Given the description of an element on the screen output the (x, y) to click on. 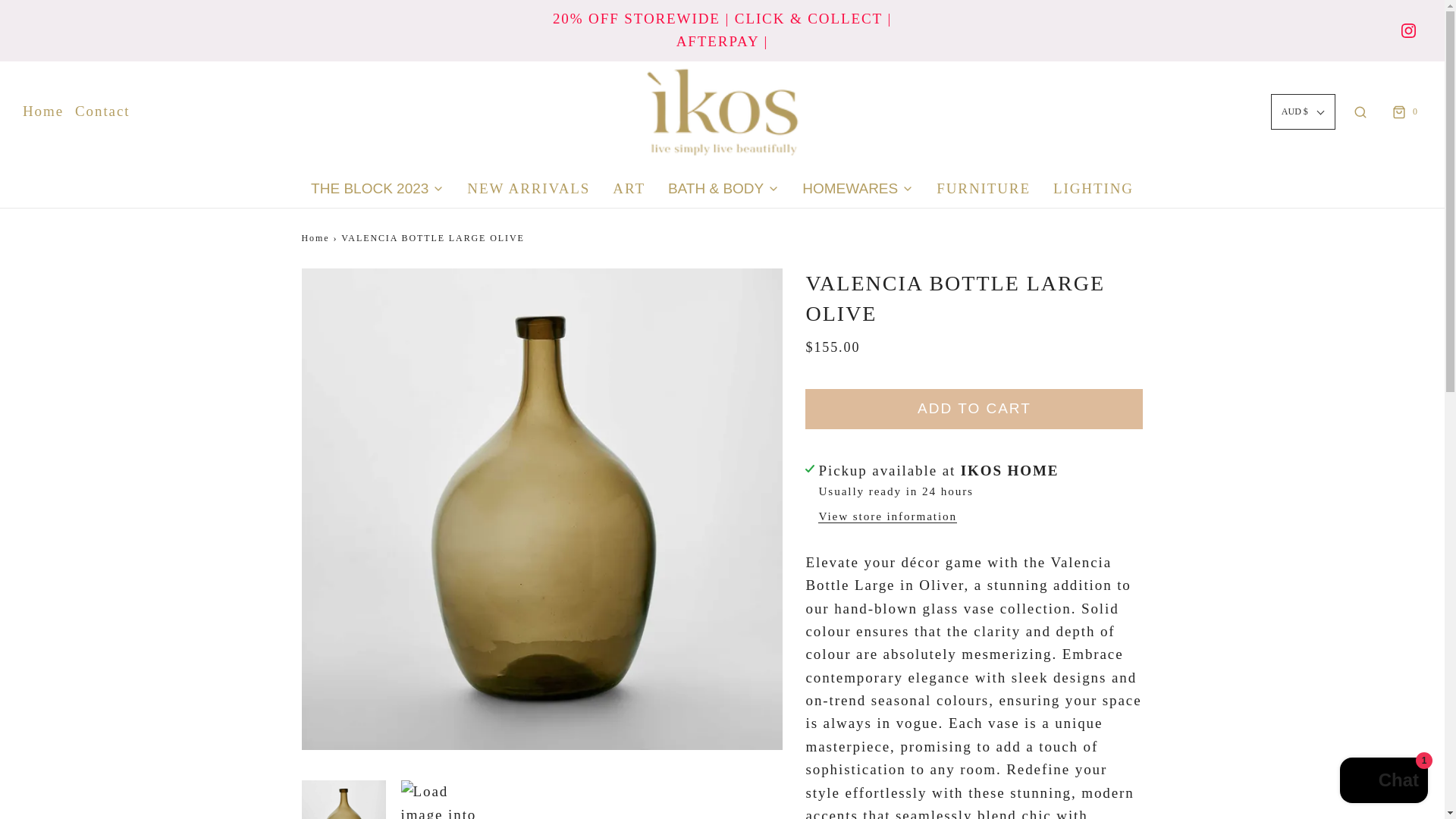
INSTAGRAM ICON (1407, 30)
Search (1360, 111)
INSTAGRAM ICON (1408, 30)
Cart (1404, 111)
Back to the frontpage (317, 237)
Shopify online store chat (1383, 781)
